Given the description of an element on the screen output the (x, y) to click on. 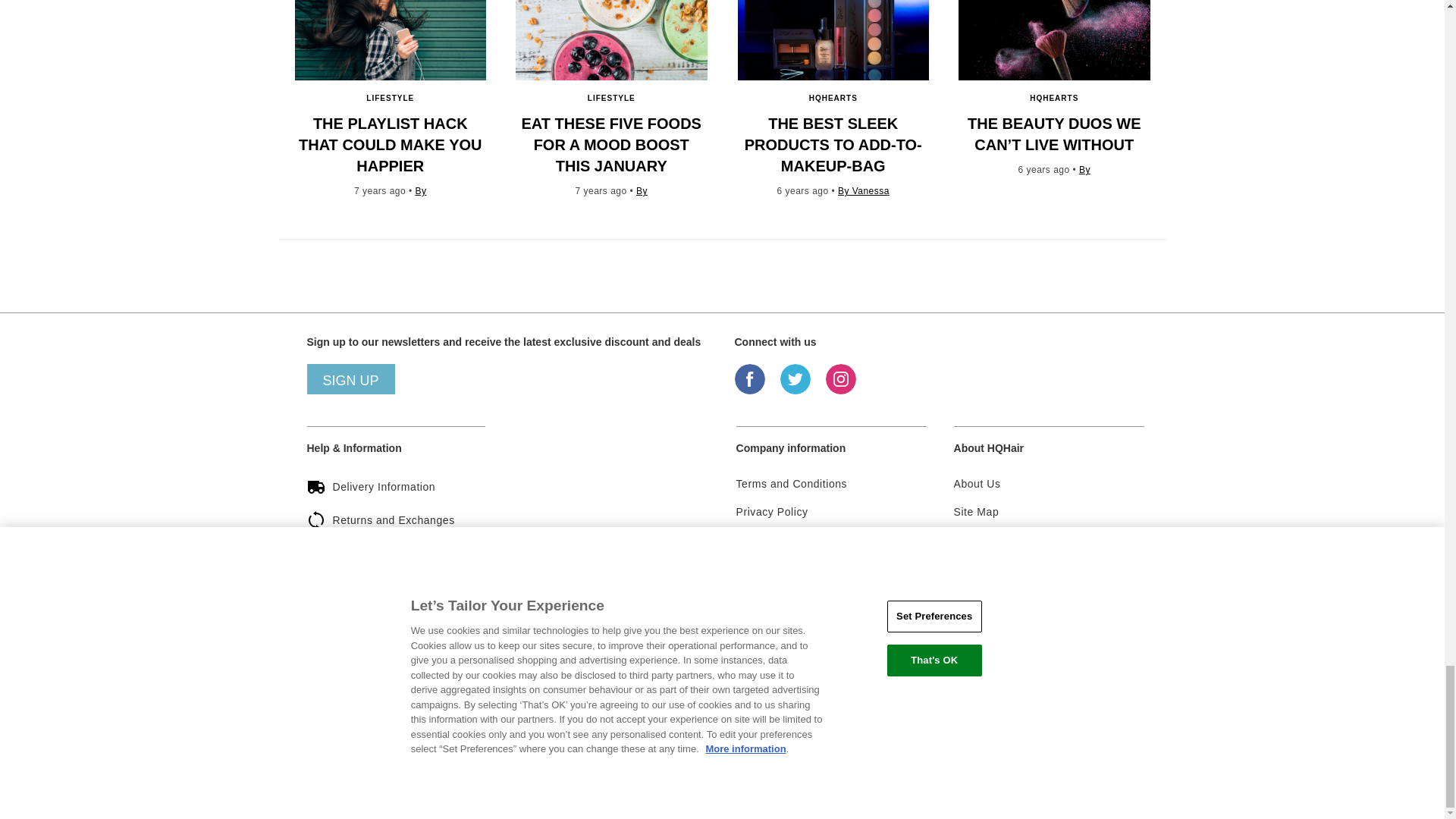
Visa (755, 734)
Alipay (953, 734)
Maestro (854, 734)
Mastercard (806, 734)
One 4 all (1003, 734)
Paypal (1052, 734)
Clearpay (1102, 734)
Amex (905, 734)
